Given the description of an element on the screen output the (x, y) to click on. 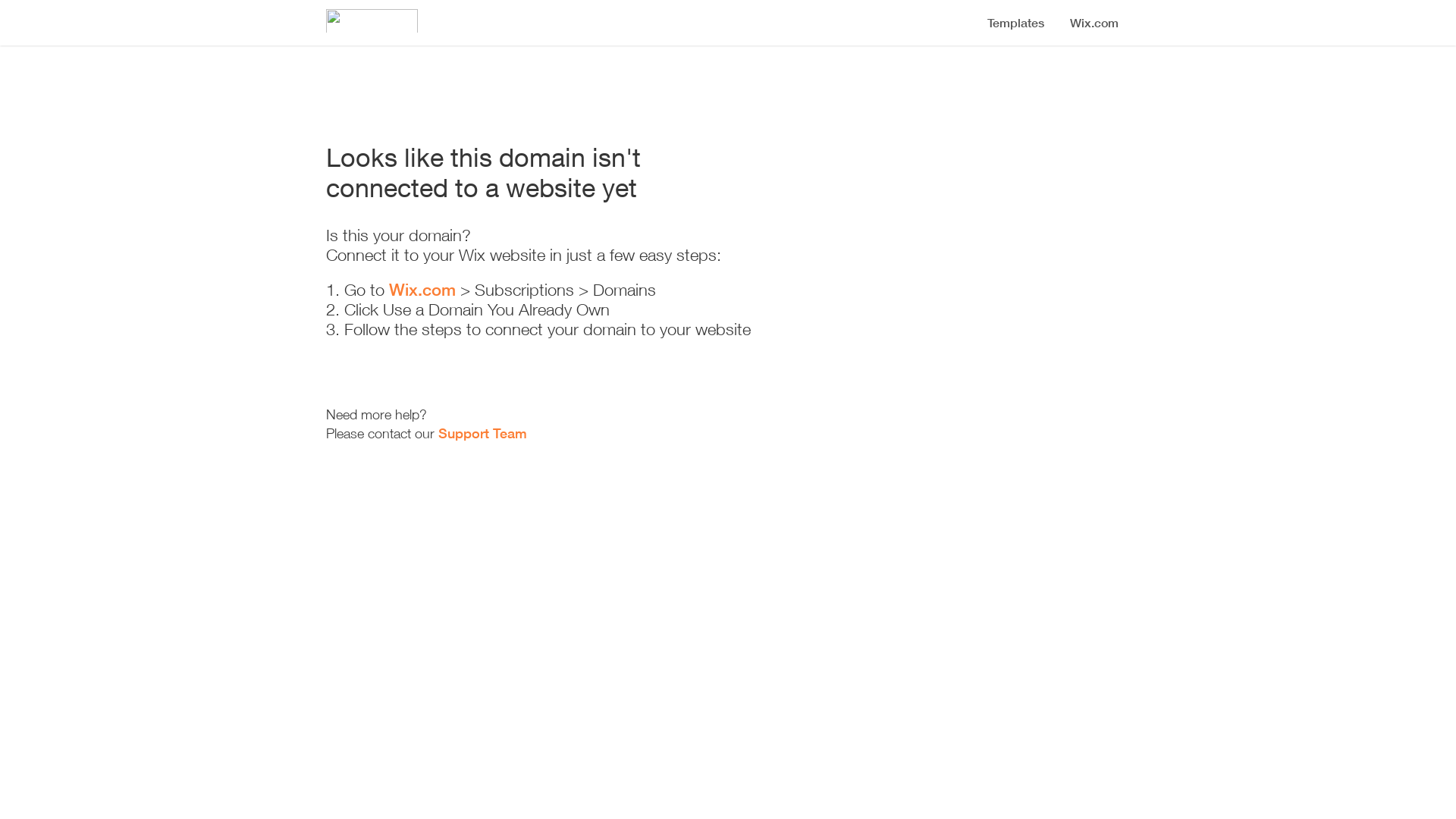
Wix.com Element type: text (422, 289)
Support Team Element type: text (482, 432)
